Given the description of an element on the screen output the (x, y) to click on. 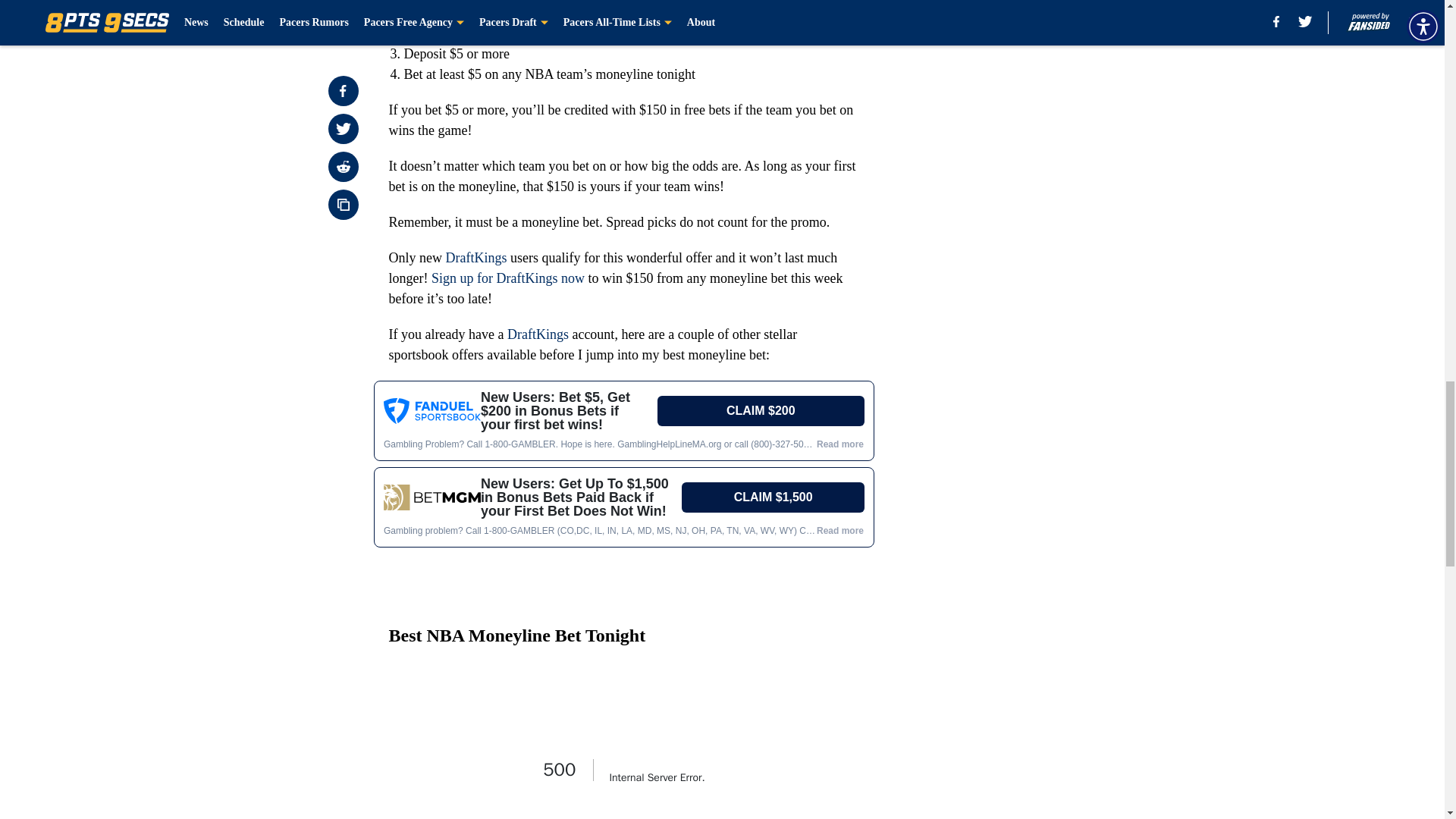
DraftKings (475, 257)
tallysight (622, 741)
Sign up for DraftKings now (507, 278)
DraftKings (537, 334)
Sign up for DraftKings using this link (506, 12)
tallysight (622, 494)
